Given the description of an element on the screen output the (x, y) to click on. 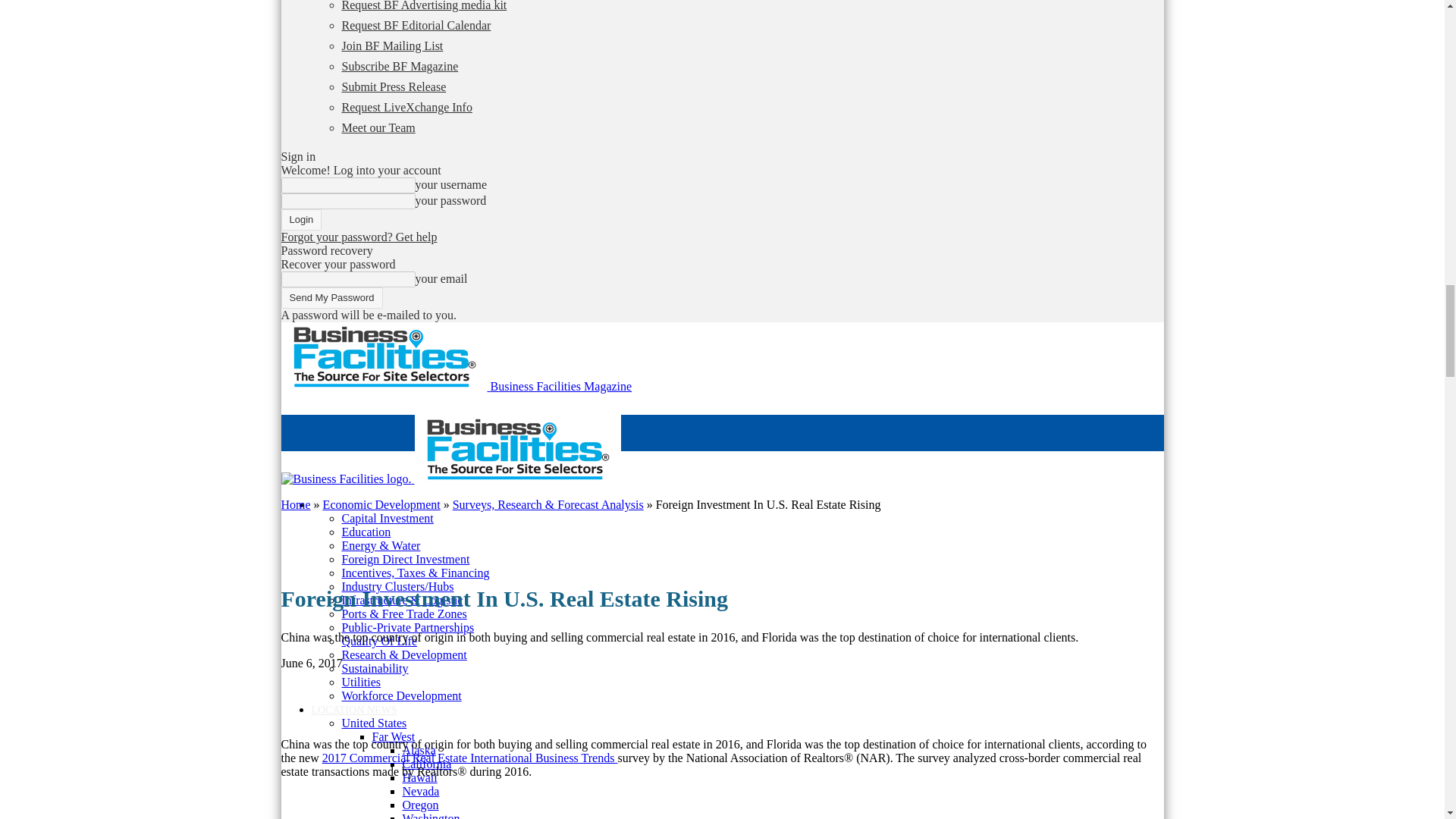
The Source for Site Selectors. (516, 448)
Login (301, 219)
The Source for Site Selectors. (345, 479)
The Source for Site Selectors. (383, 356)
Send My Password (331, 297)
